Given the description of an element on the screen output the (x, y) to click on. 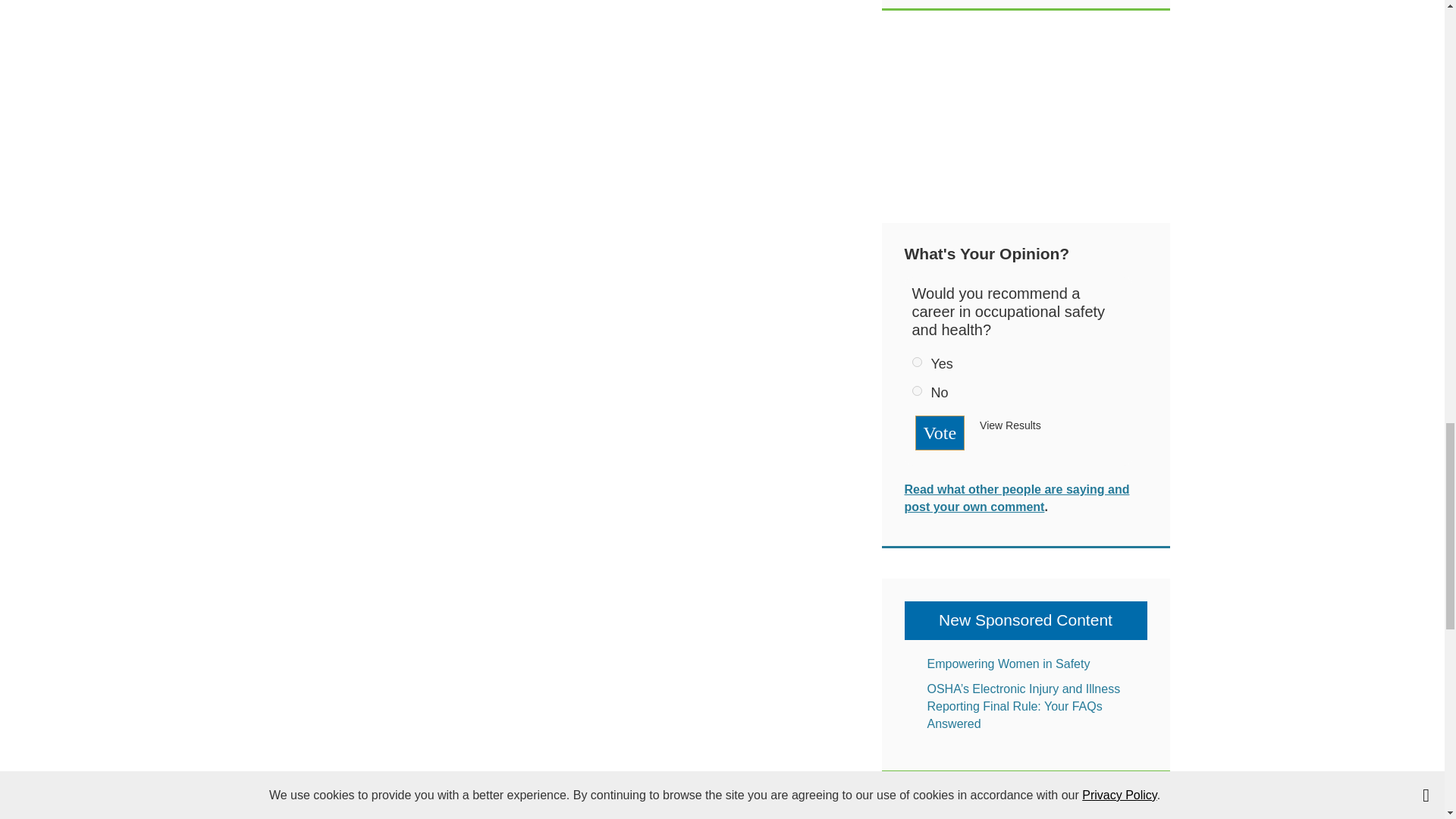
61339427 (916, 361)
61339428 (916, 390)
